Given the description of an element on the screen output the (x, y) to click on. 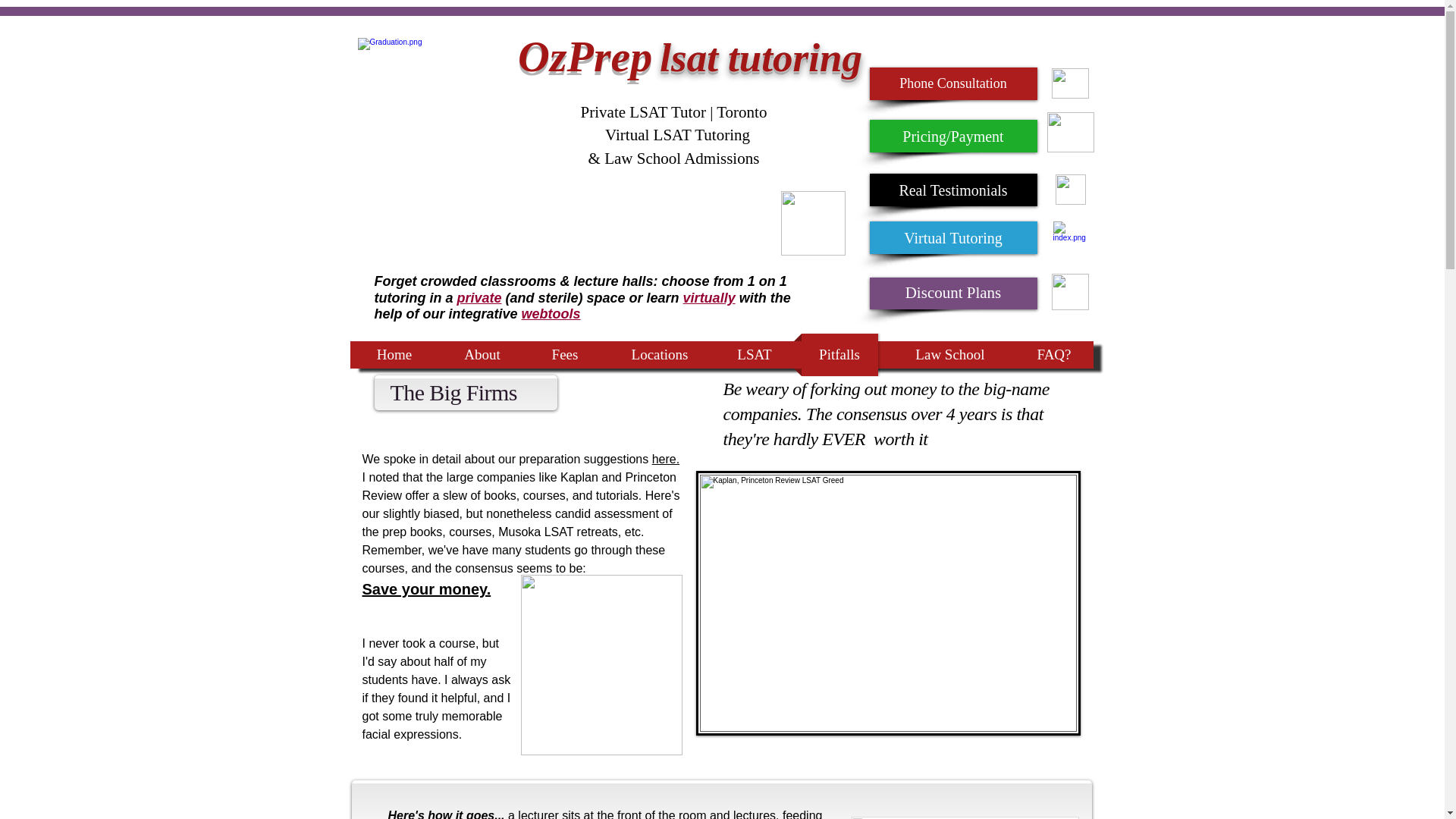
Calendar.png (812, 222)
Pitfalls (839, 354)
Home (395, 354)
LSAT (754, 354)
About (481, 354)
Locations (659, 354)
here. (665, 459)
Fees (564, 354)
